Given the description of an element on the screen output the (x, y) to click on. 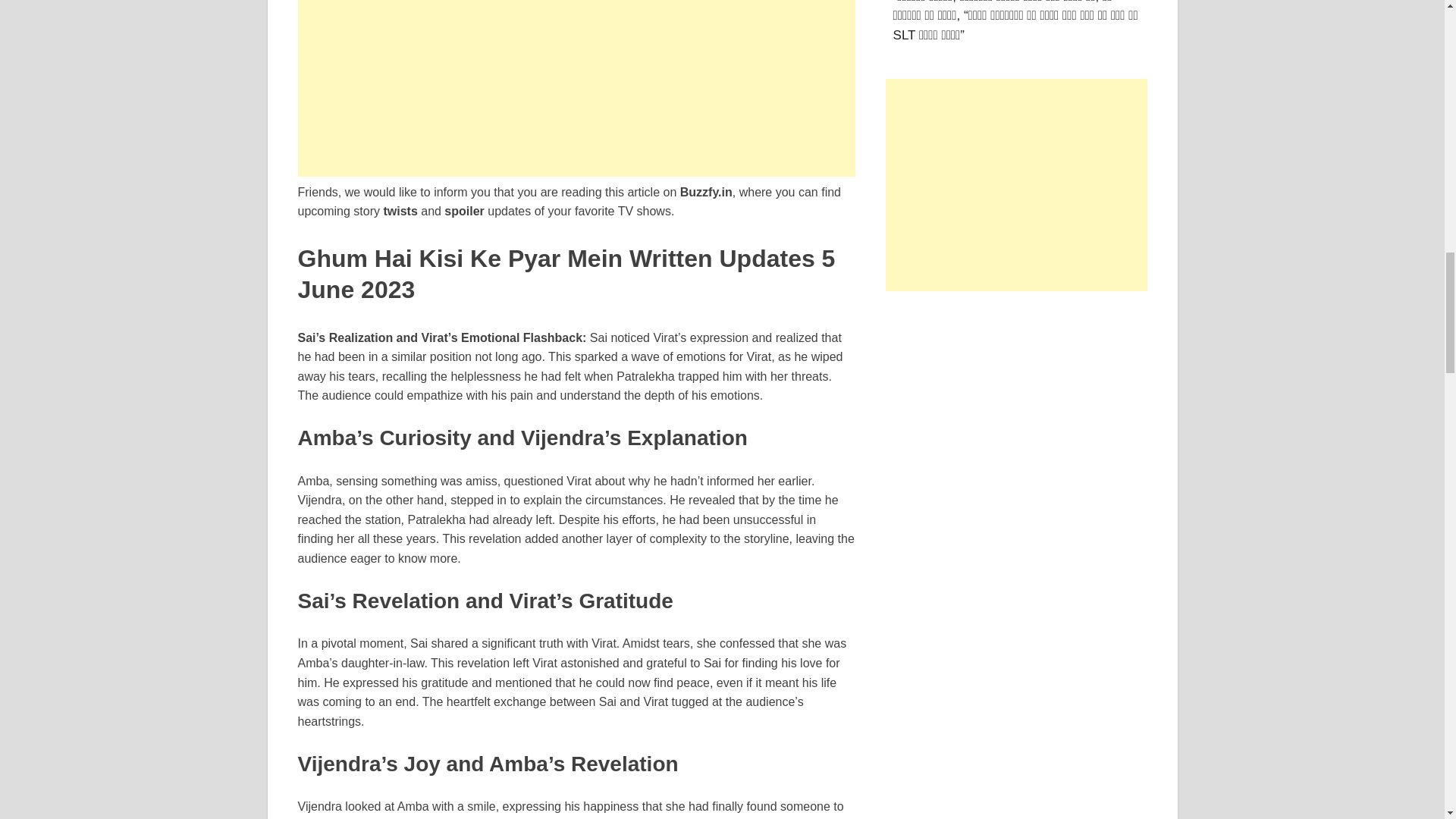
Advertisement (575, 88)
Advertisement (1016, 184)
